Given the description of an element on the screen output the (x, y) to click on. 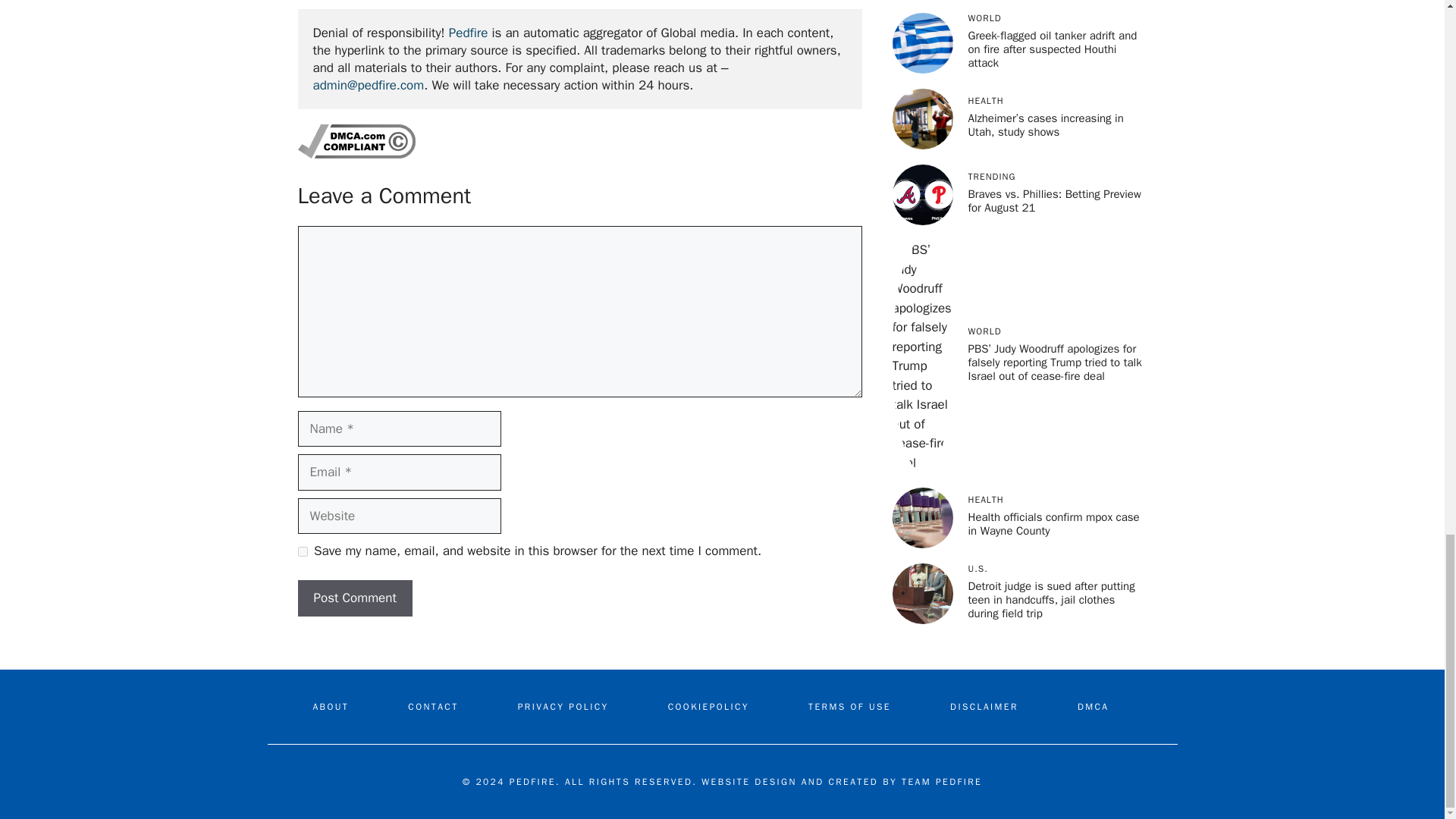
yes (302, 551)
Pedfire (467, 32)
Post Comment (354, 597)
